Given the description of an element on the screen output the (x, y) to click on. 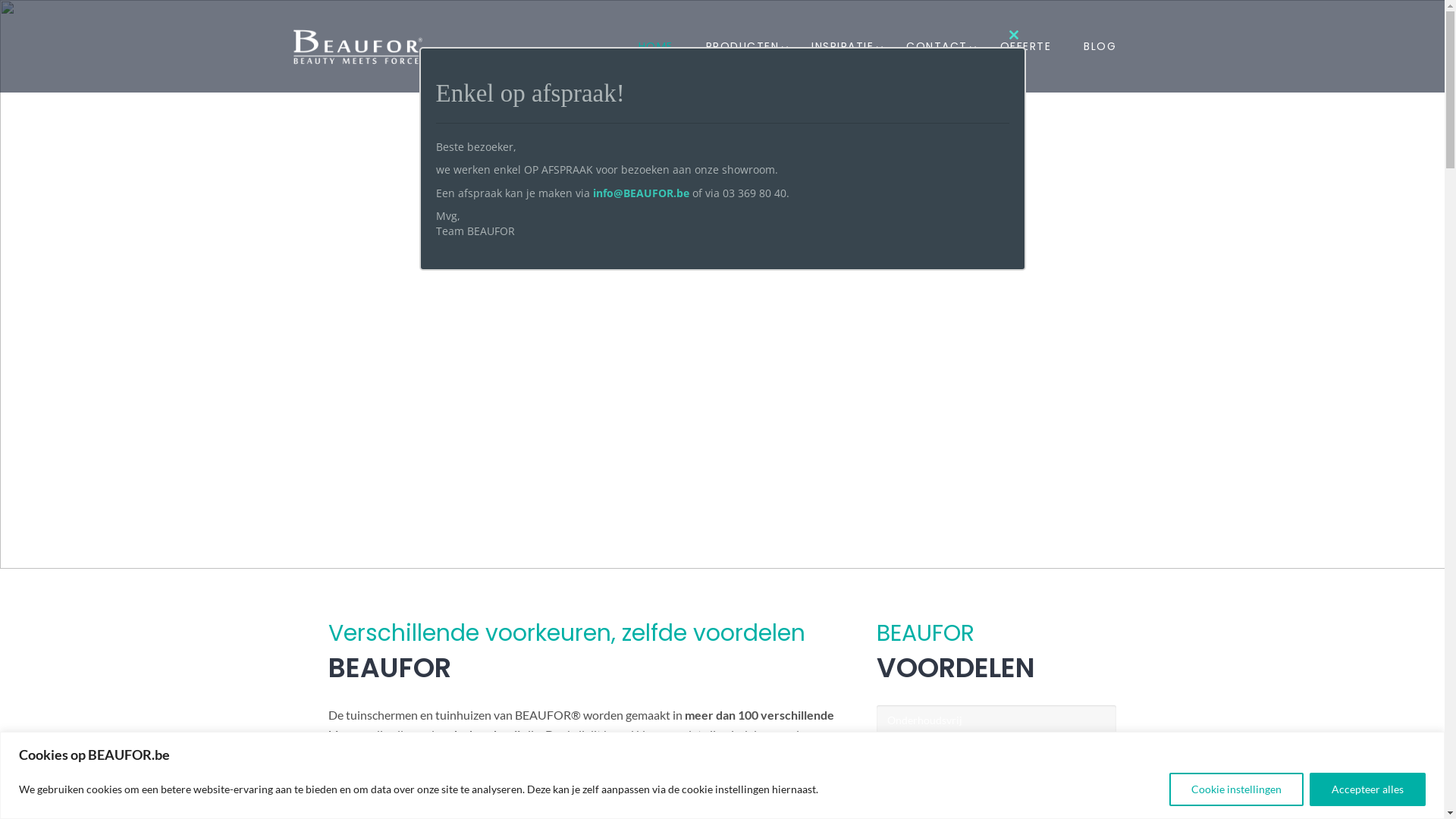
PRODUCTEN Element type: text (742, 45)
HOME Element type: text (655, 45)
Accepteer alles Element type: text (1367, 788)
BLOG Element type: text (1099, 45)
info@BEAUFOR.be Element type: text (641, 192)
CONTACT Element type: text (936, 45)
OFFERTE Element type: text (1025, 45)
Close this module Element type: text (1013, 34)
INSPIRATIE Element type: text (842, 45)
Cookie instellingen Element type: text (1236, 788)
